Given the description of an element on the screen output the (x, y) to click on. 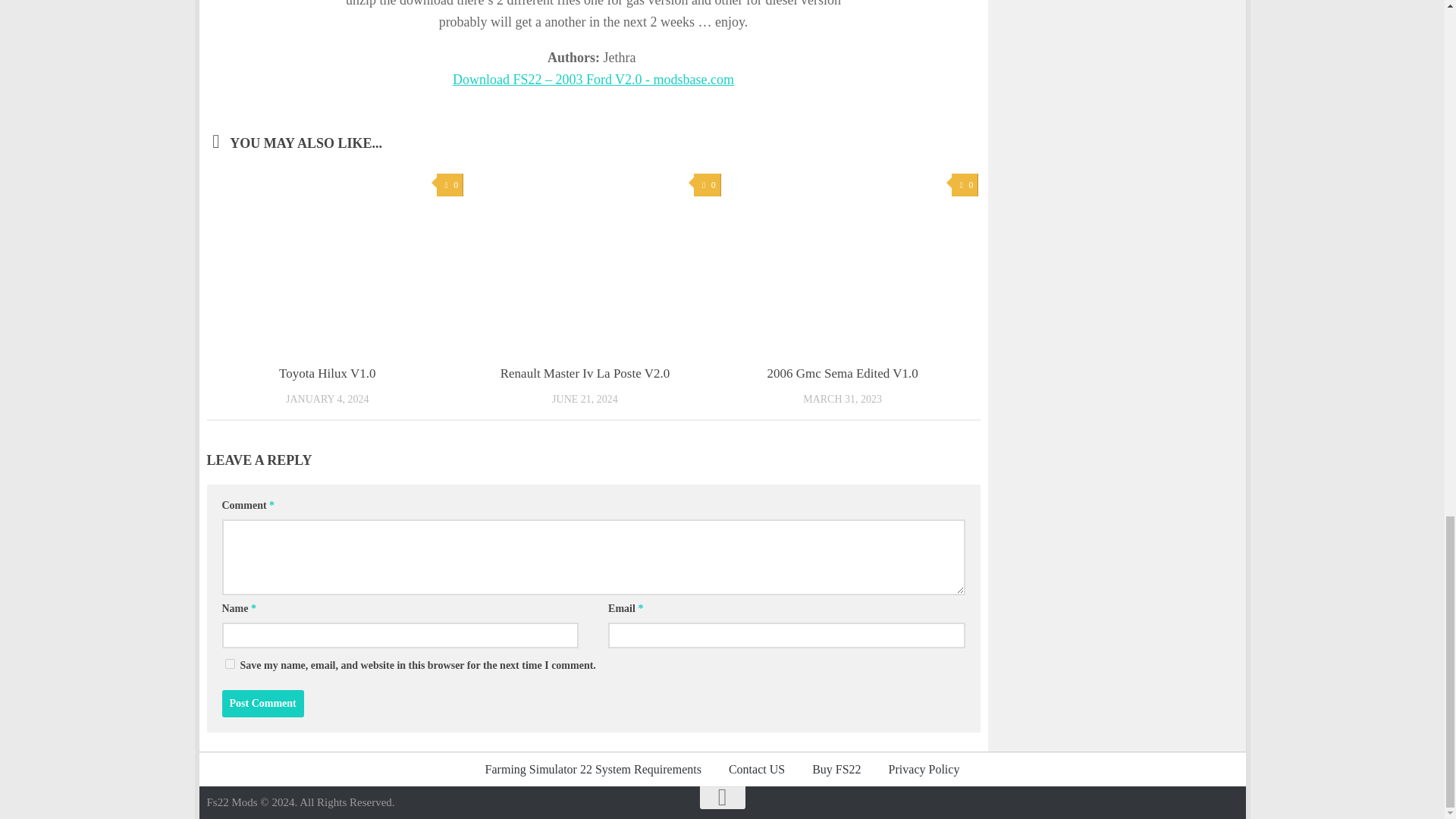
yes (229, 664)
Post Comment (261, 703)
